Given the description of an element on the screen output the (x, y) to click on. 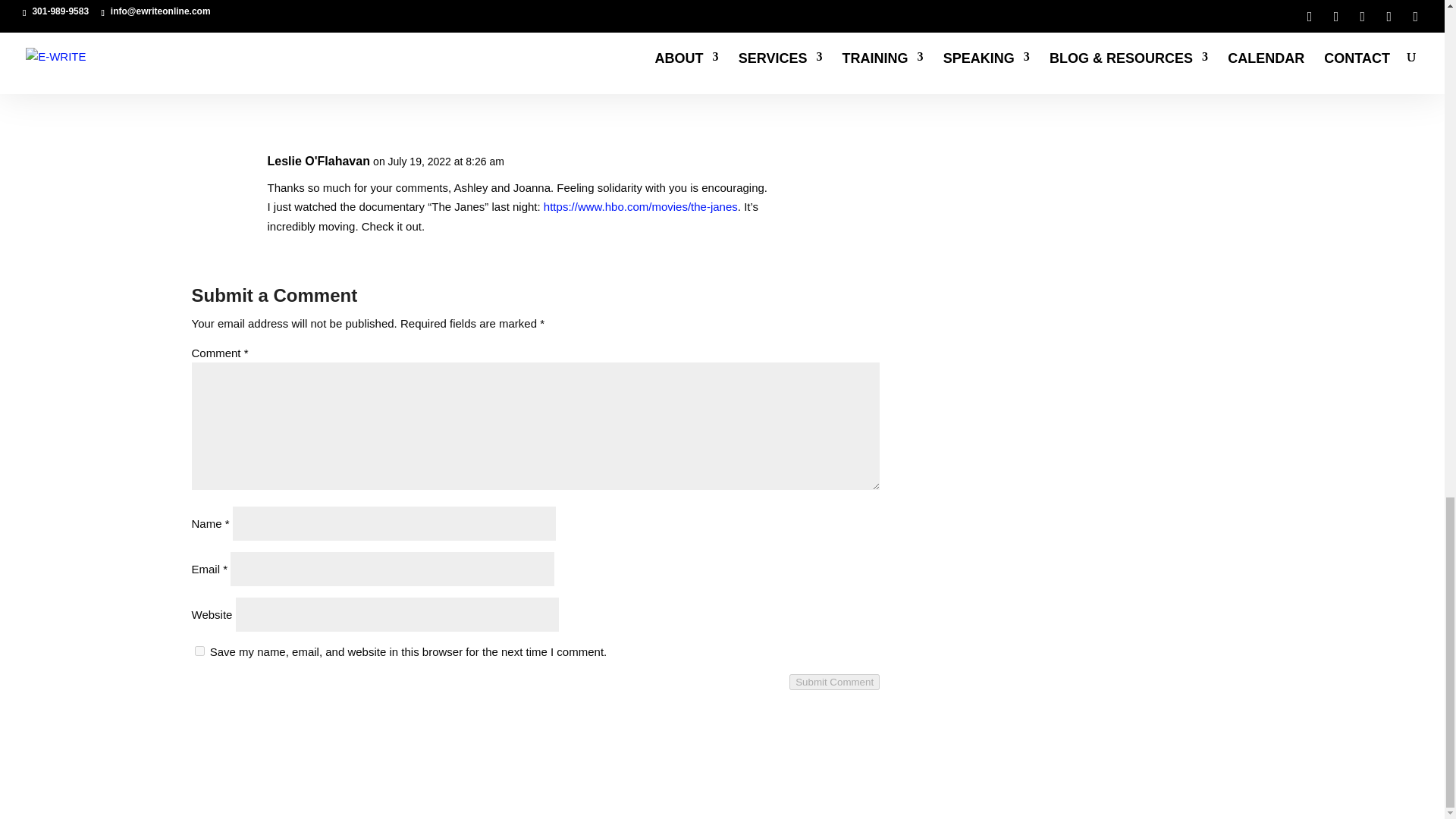
yes (198, 651)
